Given the description of an element on the screen output the (x, y) to click on. 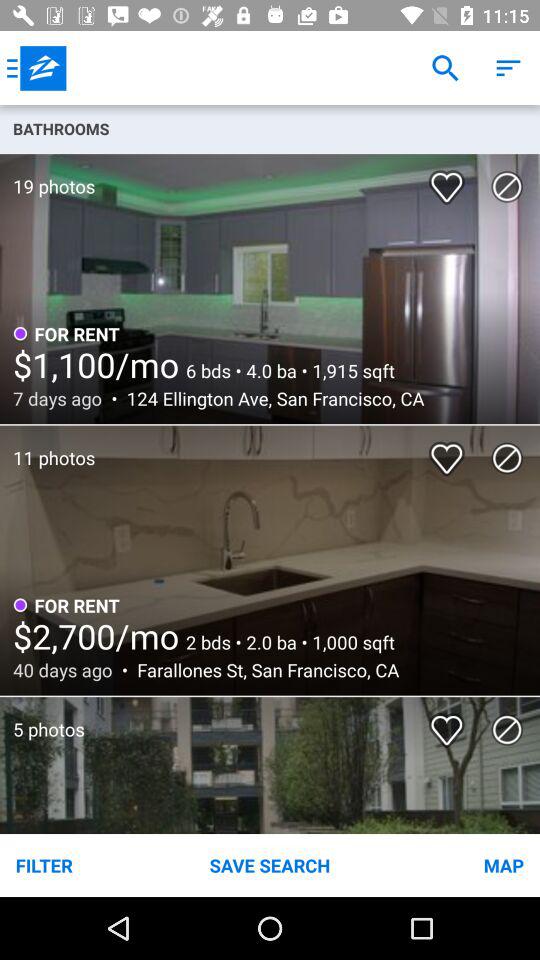
tap item to the right of the save search (450, 864)
